Given the description of an element on the screen output the (x, y) to click on. 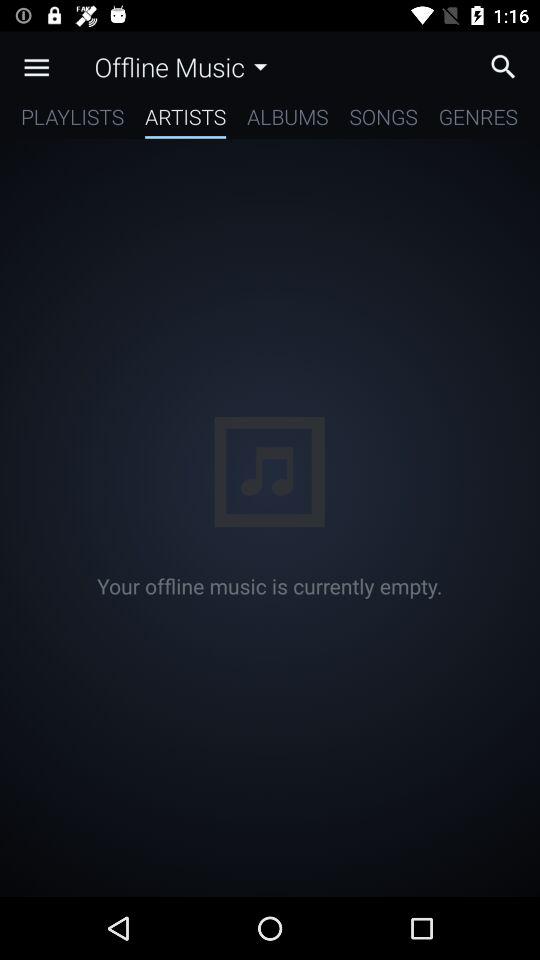
open the item next to the songs (287, 120)
